Given the description of an element on the screen output the (x, y) to click on. 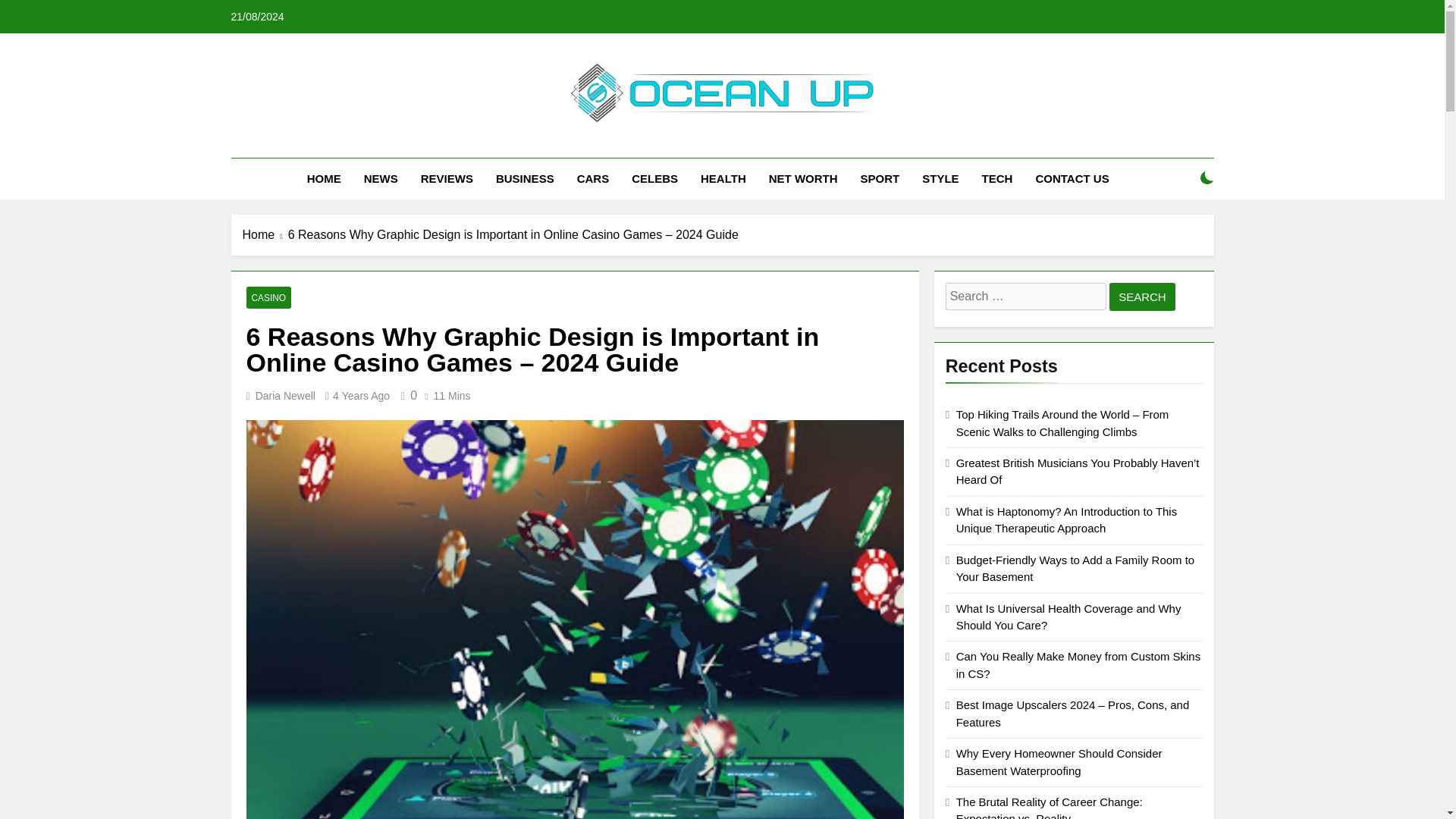
4 Years Ago (361, 395)
HOME (323, 178)
CARS (593, 178)
CELEBS (654, 178)
CONTACT US (1071, 178)
NEWS (380, 178)
REVIEWS (446, 178)
TECH (998, 178)
BUSINESS (525, 178)
NET WORTH (802, 178)
